Given the description of an element on the screen output the (x, y) to click on. 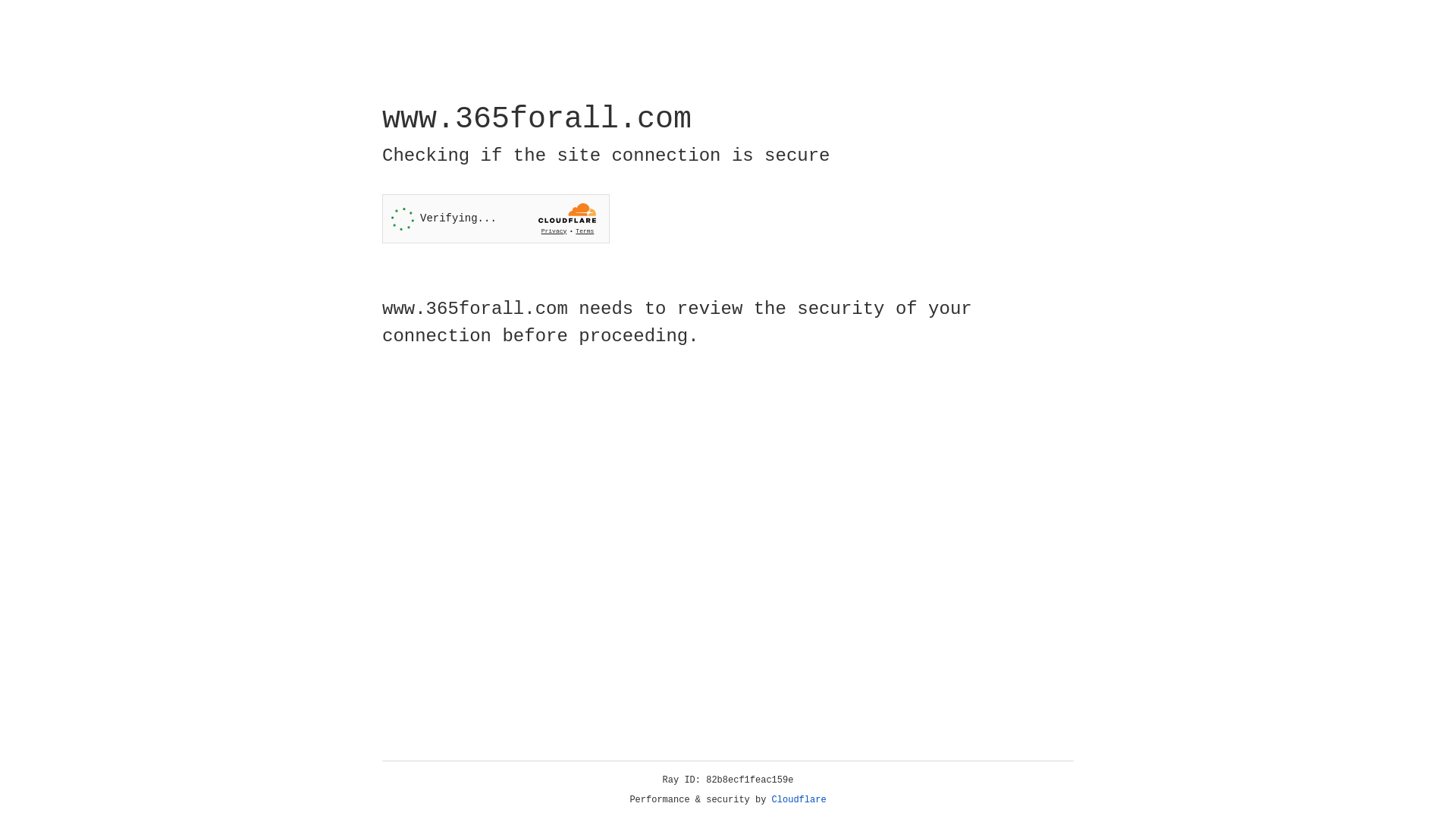
Widget containing a Cloudflare security challenge Element type: hover (495, 218)
Cloudflare Element type: text (798, 799)
